Given the description of an element on the screen output the (x, y) to click on. 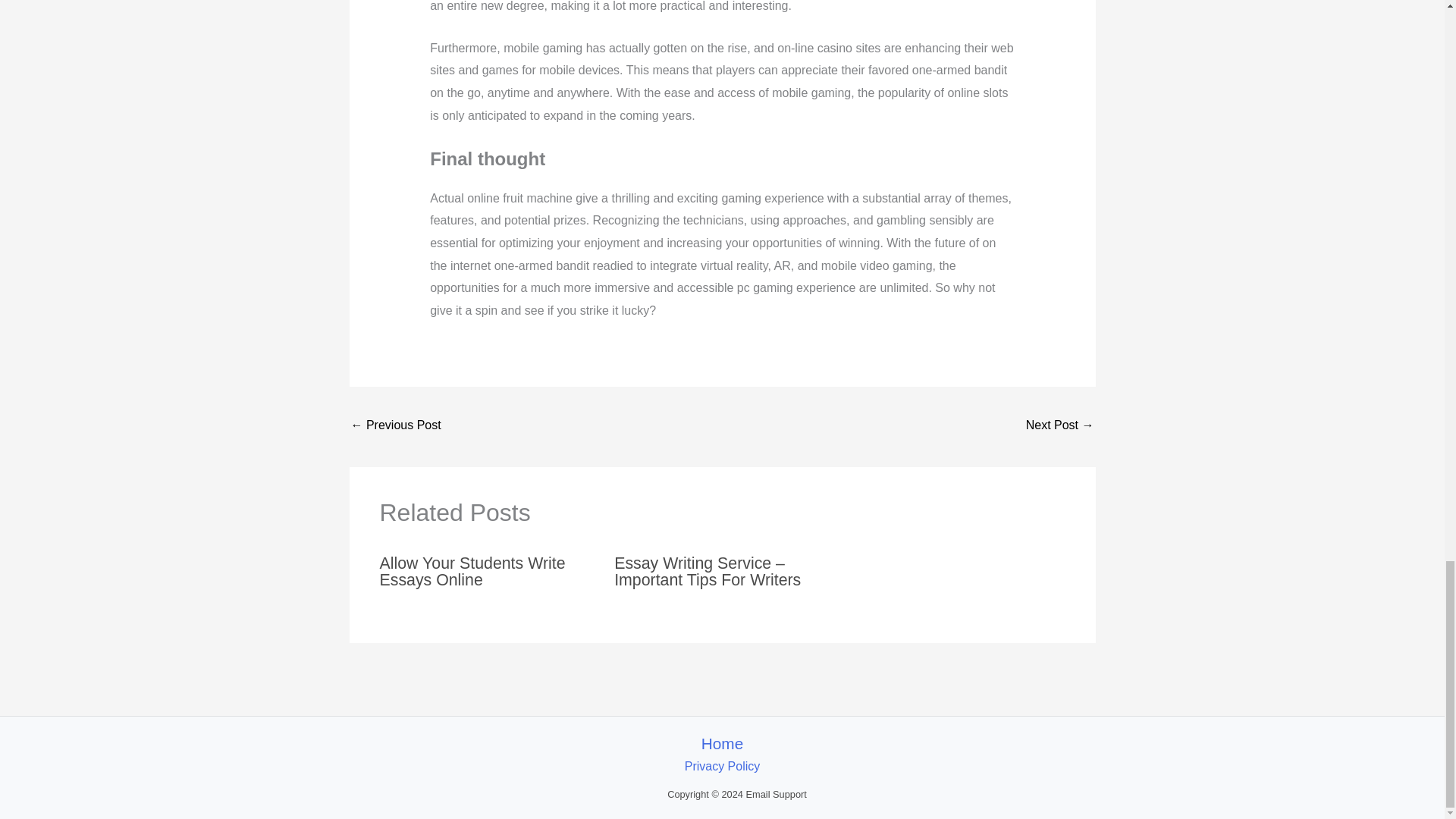
Privacy Policy (722, 766)
Home (721, 743)
100 Euro Bonus book auf ra Exklusive Einzahlung (395, 426)
Allow Your Students Write Essays Online (471, 571)
